Given the description of an element on the screen output the (x, y) to click on. 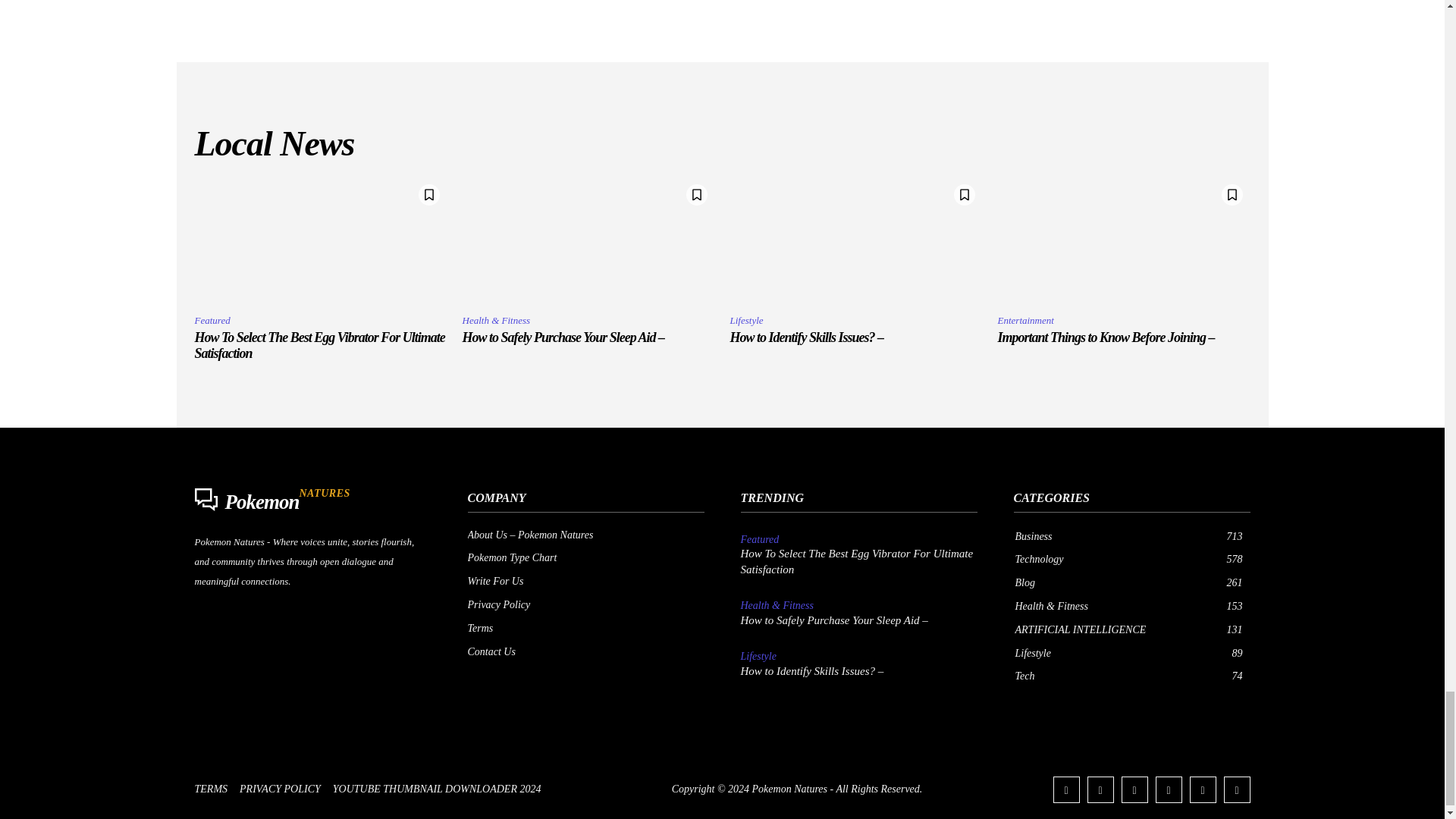
Facebook (1065, 789)
Twitter (1202, 789)
TikTok (1134, 789)
Twitch (1169, 789)
Instagram (1100, 789)
WhatsApp (1237, 789)
